Given the description of an element on the screen output the (x, y) to click on. 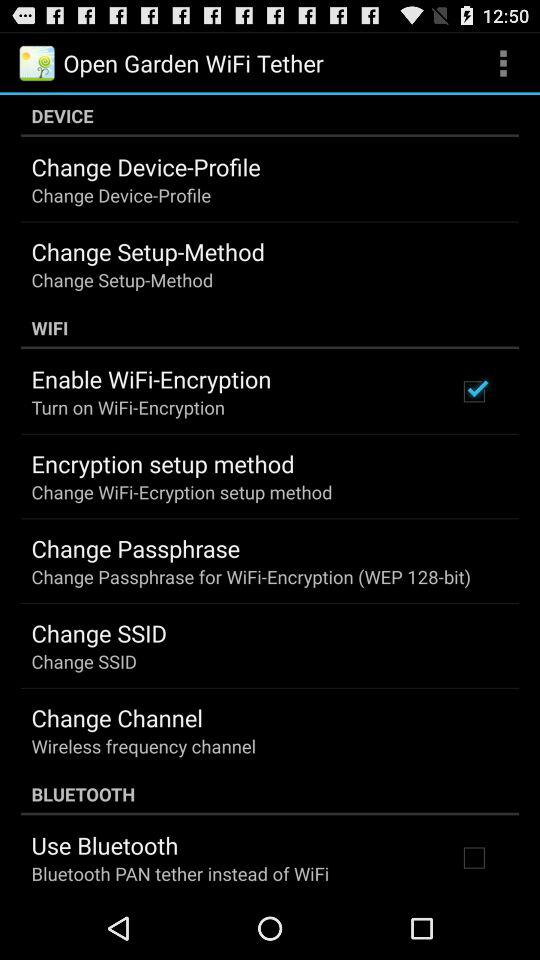
turn off the app above the encryption setup method item (127, 406)
